Given the description of an element on the screen output the (x, y) to click on. 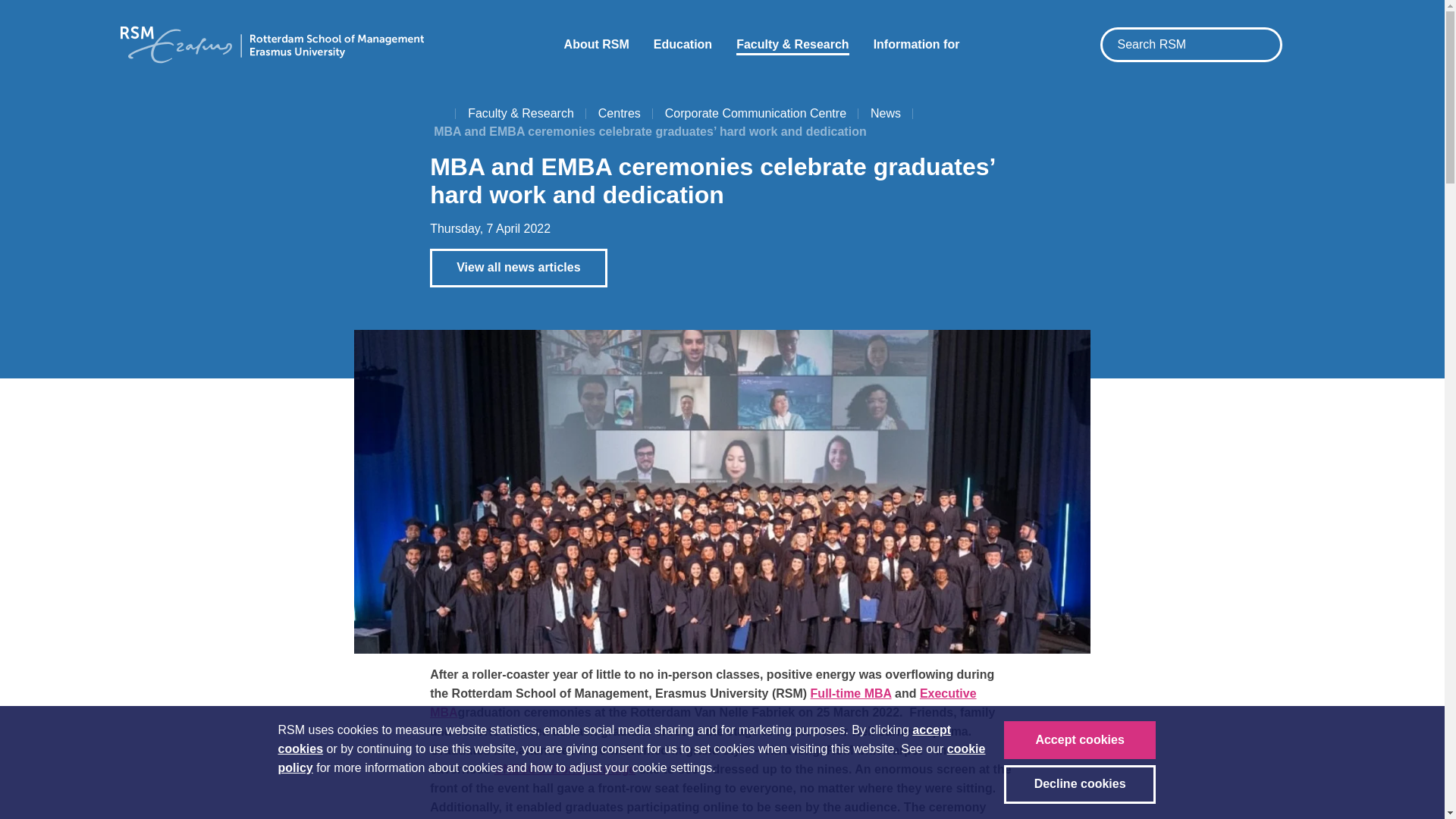
Go to News (885, 113)
Go to Centres (619, 113)
Rotterdam School of Management, Erasmus University (271, 44)
Go to Corporate Communication Centre (755, 113)
About RSM (596, 44)
Go to Home (438, 113)
